Given the description of an element on the screen output the (x, y) to click on. 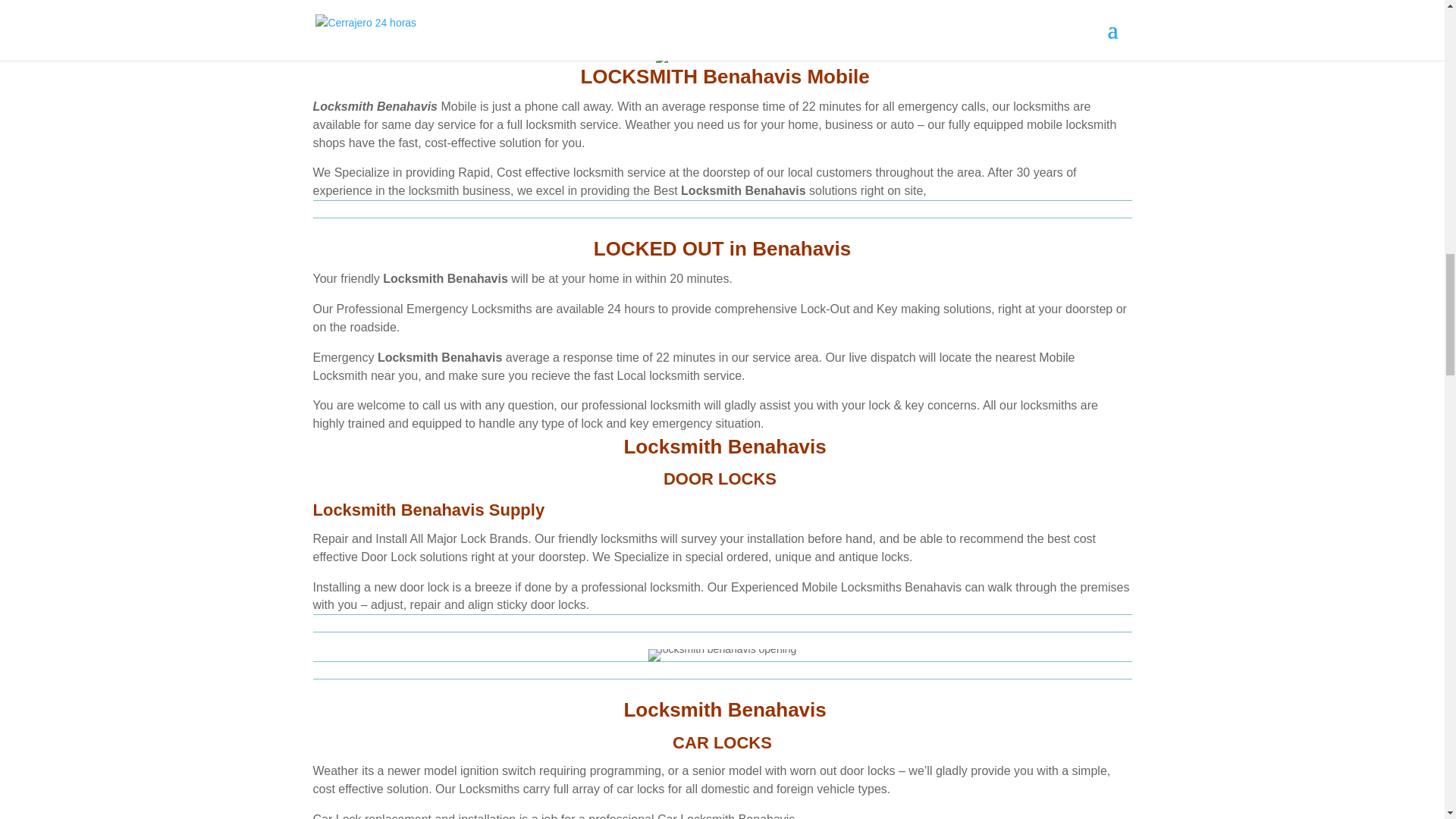
locksmith benahavis opening (721, 654)
locksmith benahavis (366, 44)
locksmith benahavis  hecti (722, 56)
